Given the description of an element on the screen output the (x, y) to click on. 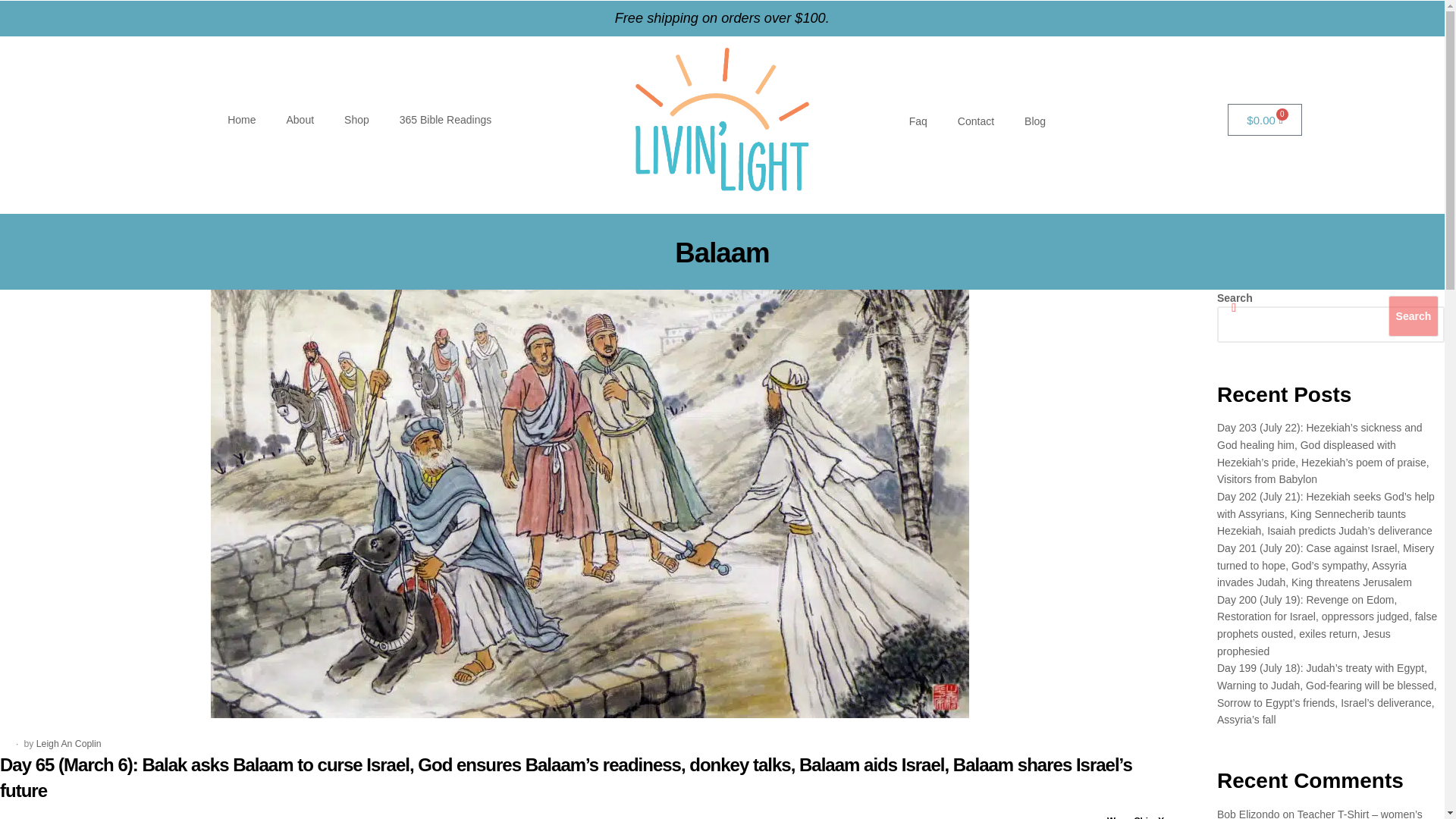
Contact (975, 121)
Search (1413, 316)
365 Bible Readings (445, 119)
Faq (917, 121)
Blog (1035, 121)
About (299, 119)
Shop (356, 119)
Bob Elizondo (1248, 813)
Leigh An Coplin (68, 743)
Home (241, 119)
